Given the description of an element on the screen output the (x, y) to click on. 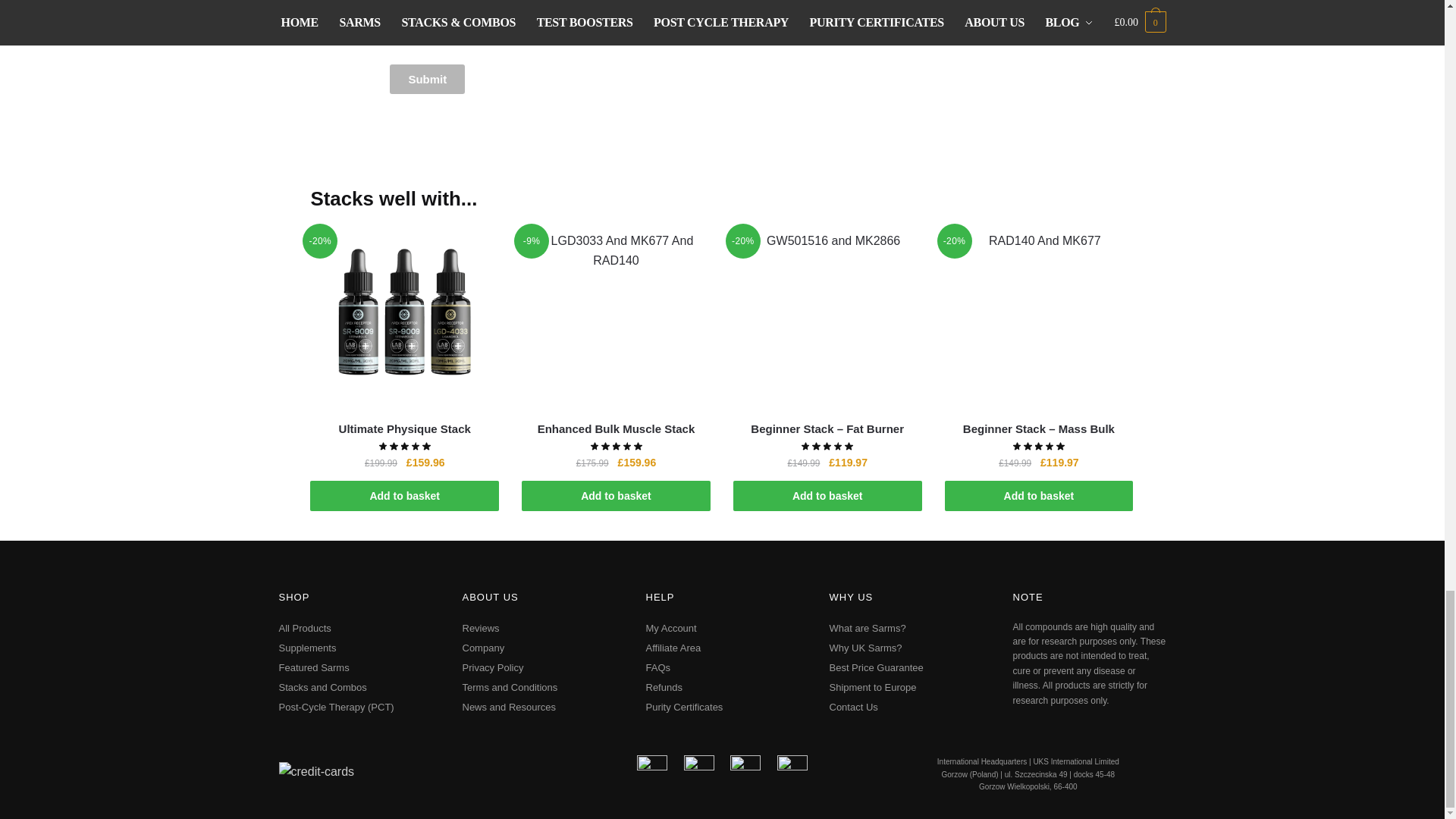
Ultimate Physique Stack (404, 429)
Submit (427, 79)
yes (394, 39)
Enhanced Bulk Muscle Stack (615, 316)
Submit (427, 79)
Ultimate Physique Stack (404, 316)
